Given the description of an element on the screen output the (x, y) to click on. 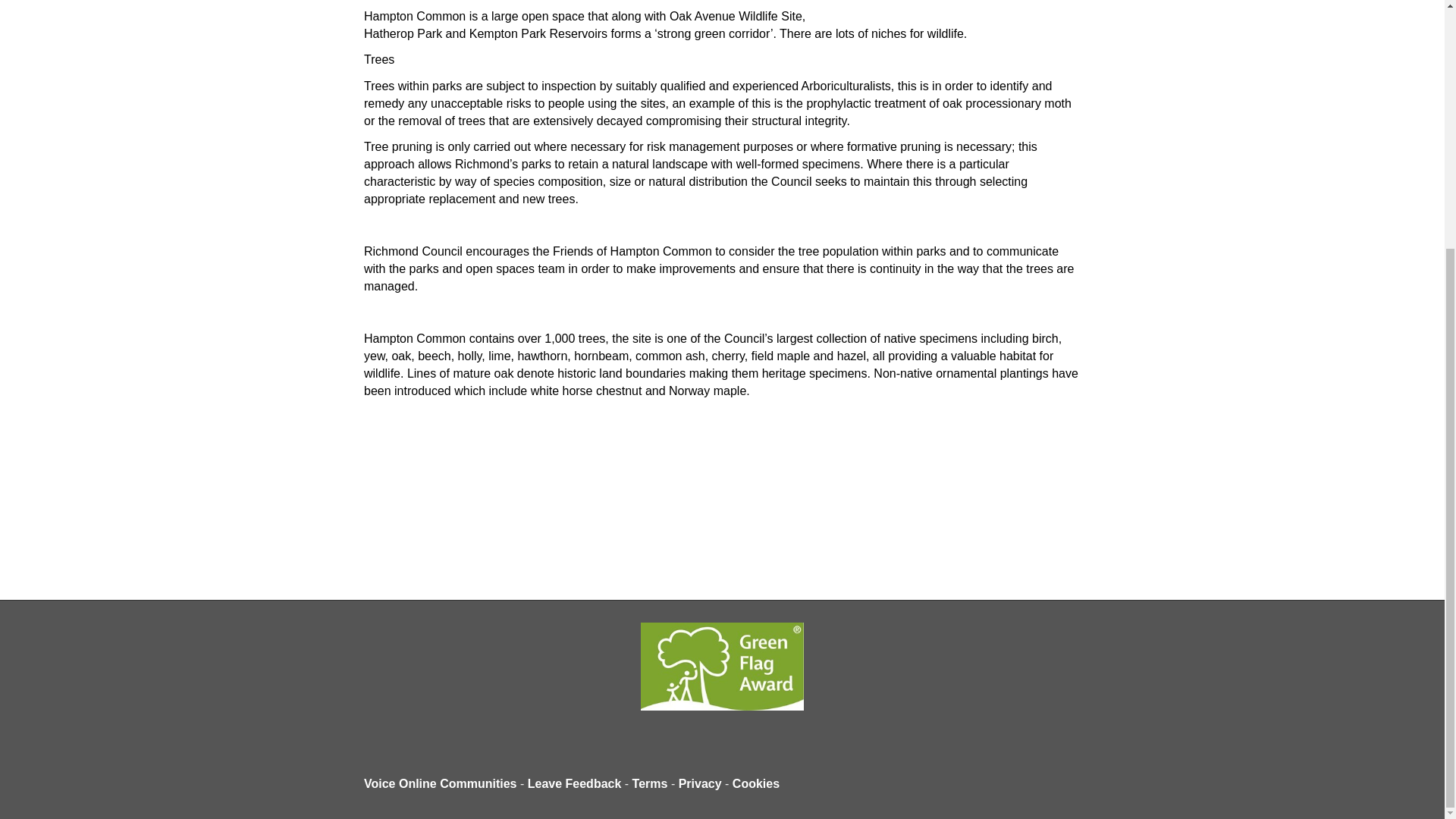
Privacy (700, 783)
Leave Feedback (574, 783)
Cookies (755, 783)
Terms (649, 783)
Voice Online Communities (440, 783)
